Given the description of an element on the screen output the (x, y) to click on. 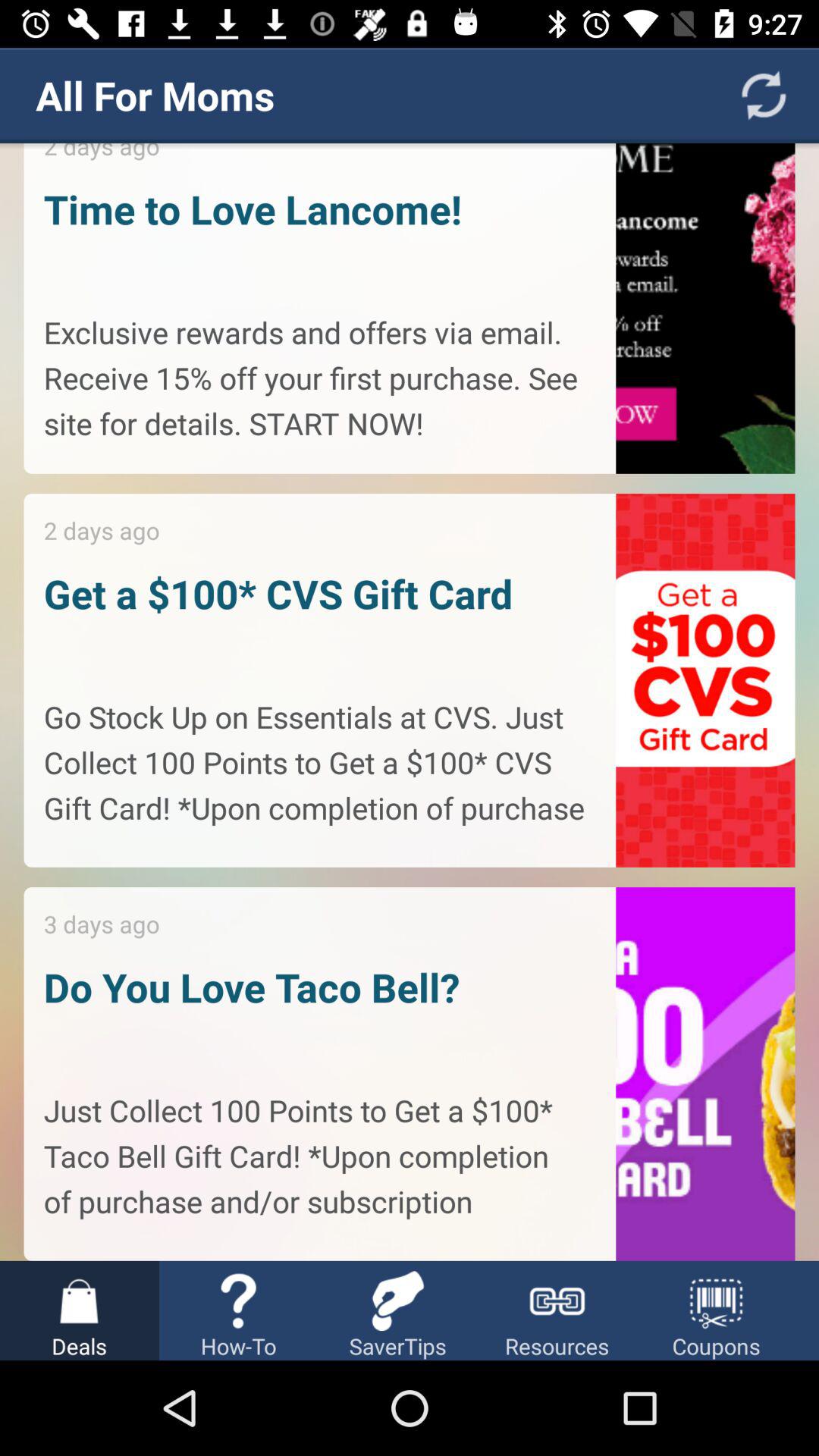
turn off item below the all for moms app (409, 701)
